Given the description of an element on the screen output the (x, y) to click on. 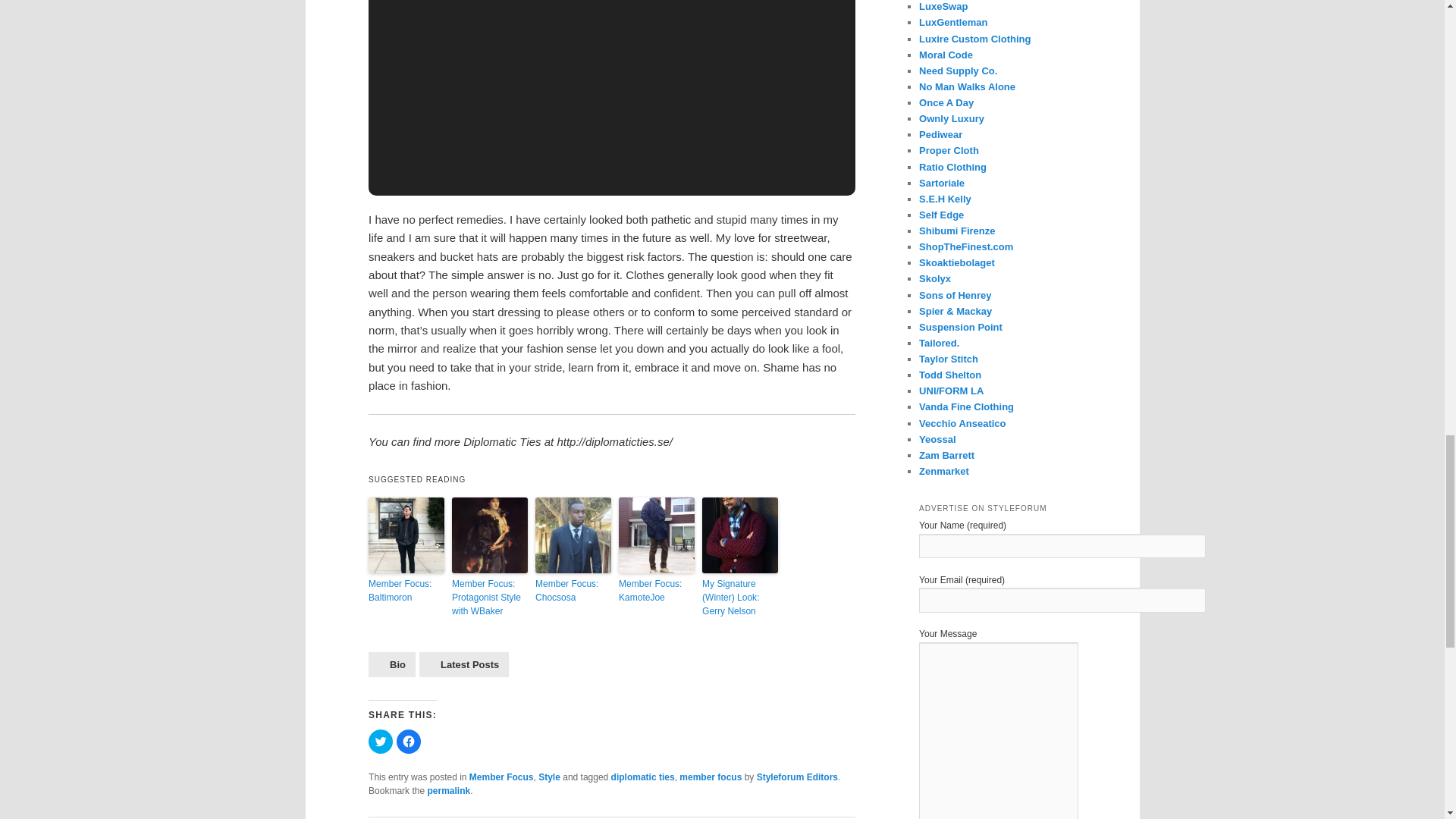
Permalink to Member Focus: Diplomatic Ties (448, 790)
Member Focus: Baltimoron (406, 590)
Click to share on Facebook (408, 741)
Click to share on Twitter (380, 741)
Member Focus: Chocsosa (573, 590)
Member Focus: Protagonist Style with WBaker (489, 597)
